Given the description of an element on the screen output the (x, y) to click on. 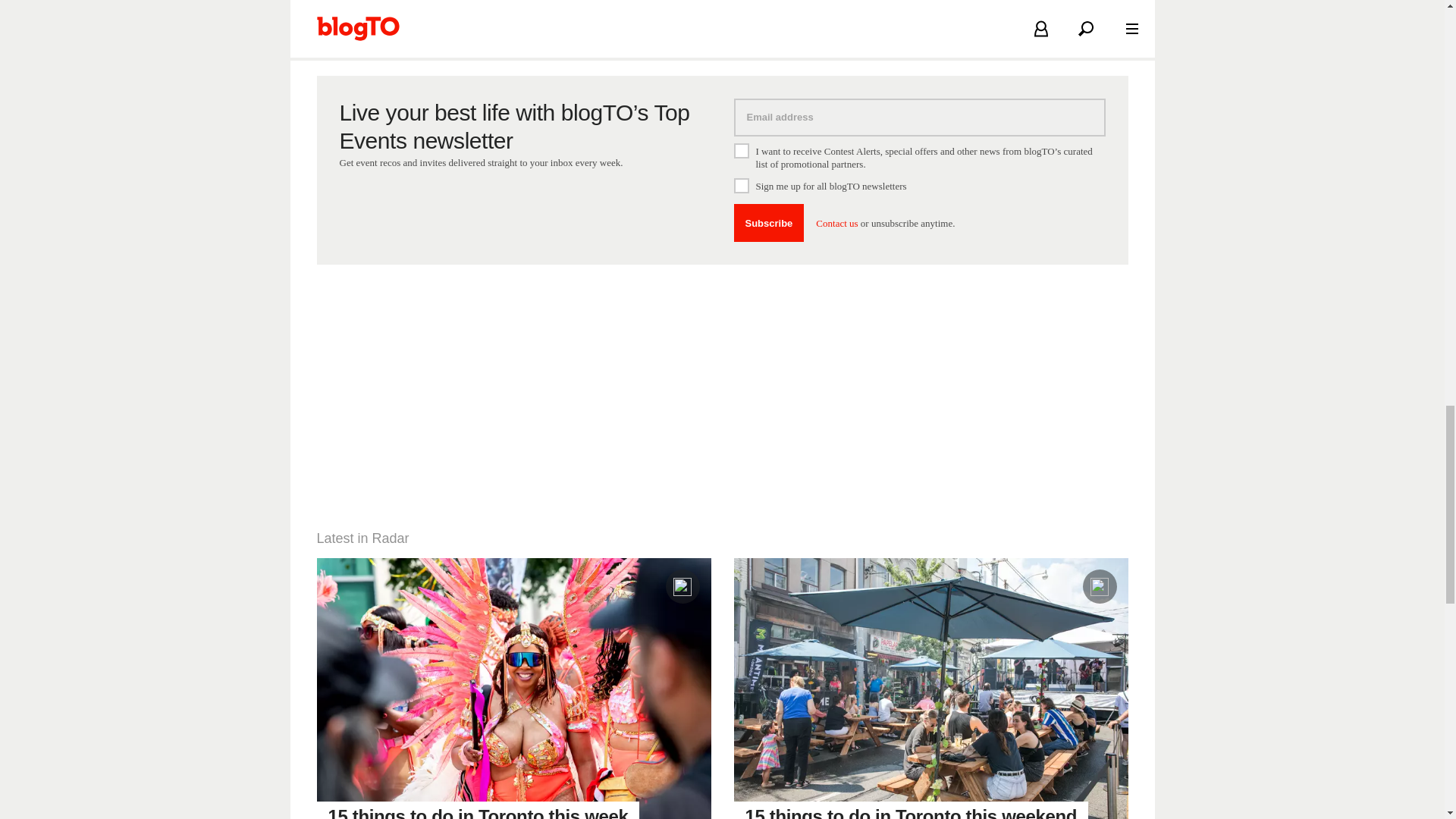
Subscribe (769, 222)
